Given the description of an element on the screen output the (x, y) to click on. 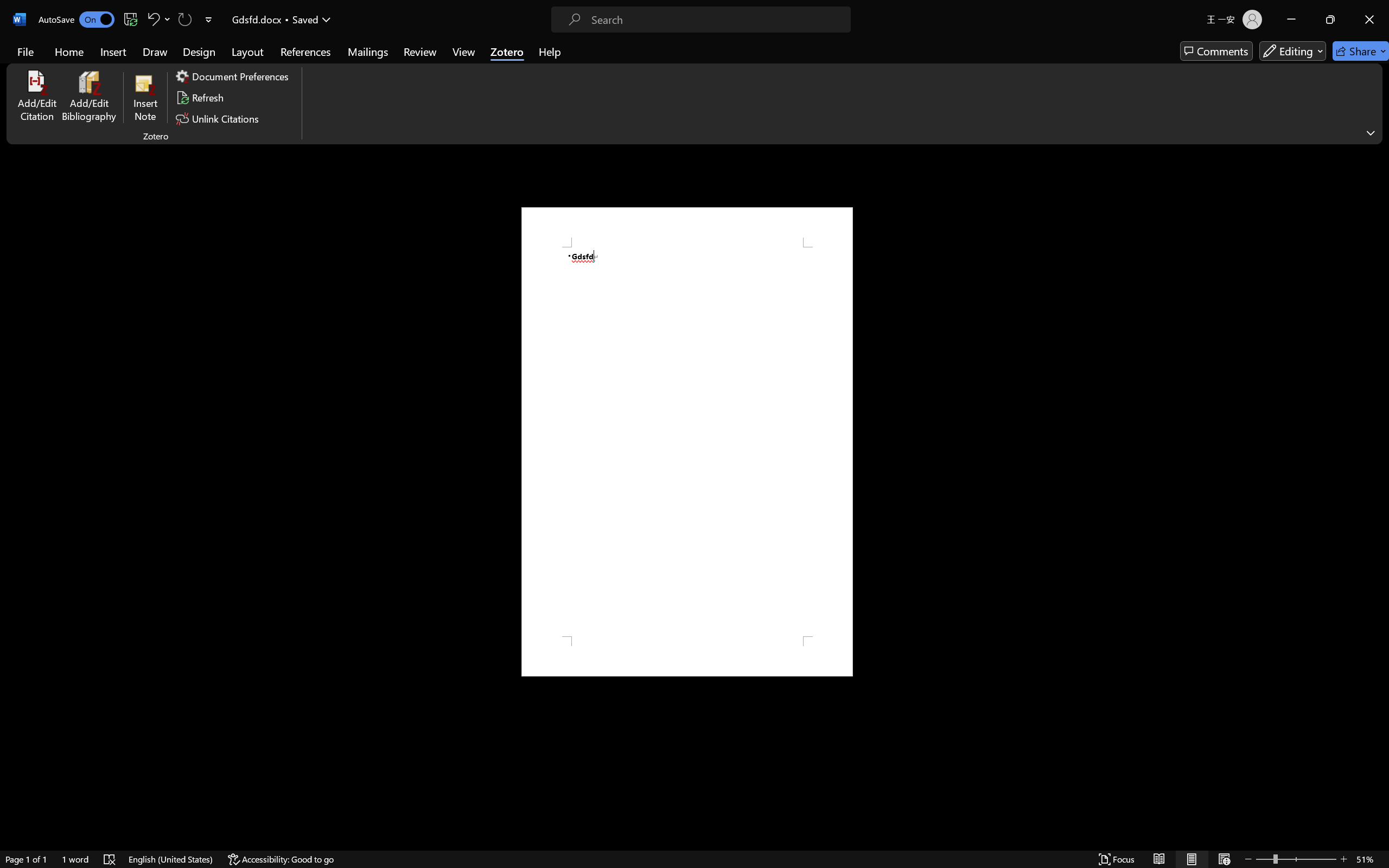
Page 1 content (686, 441)
